Given the description of an element on the screen output the (x, y) to click on. 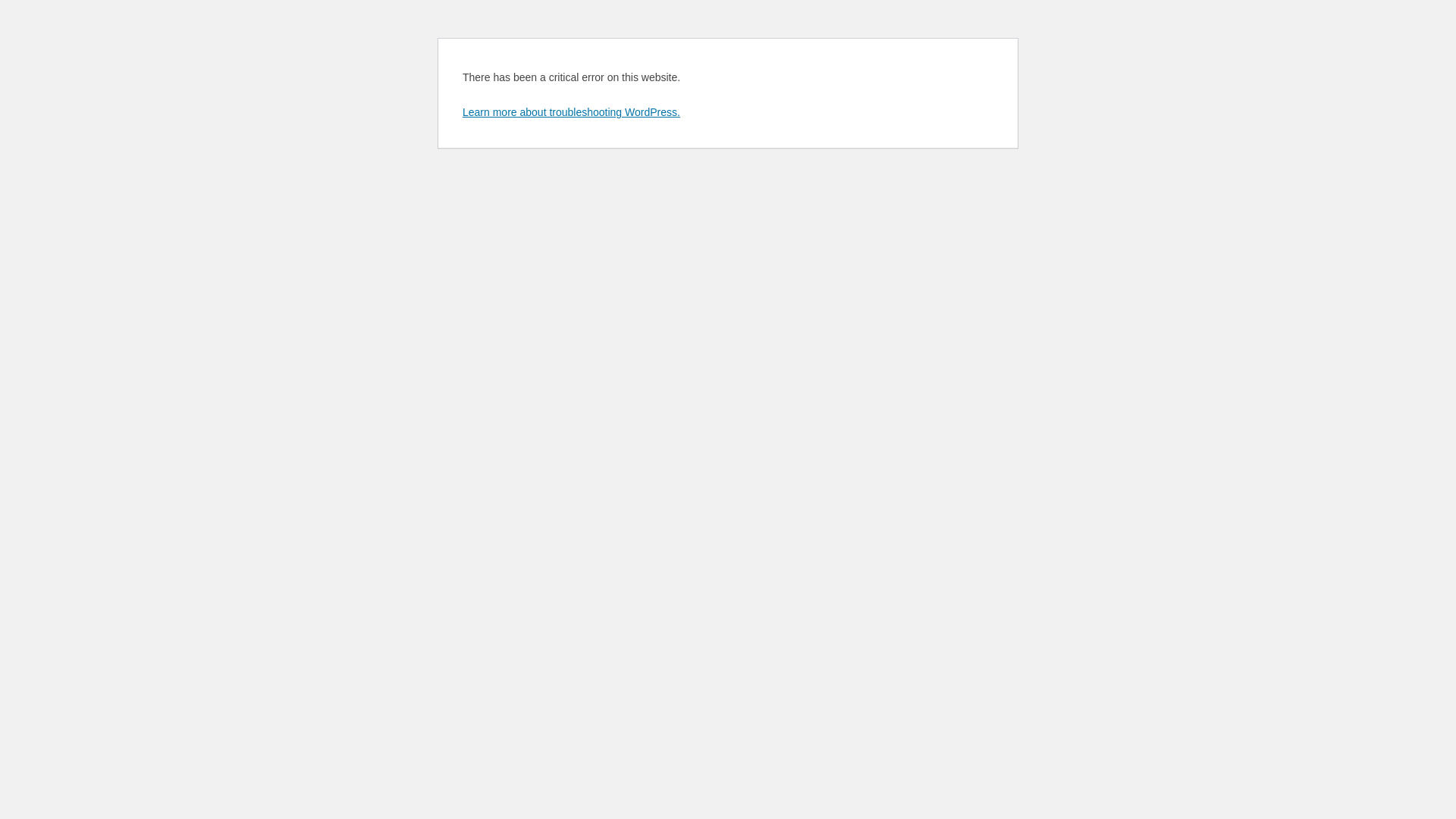
Learn more about troubleshooting WordPress. Element type: text (571, 112)
